Given the description of an element on the screen output the (x, y) to click on. 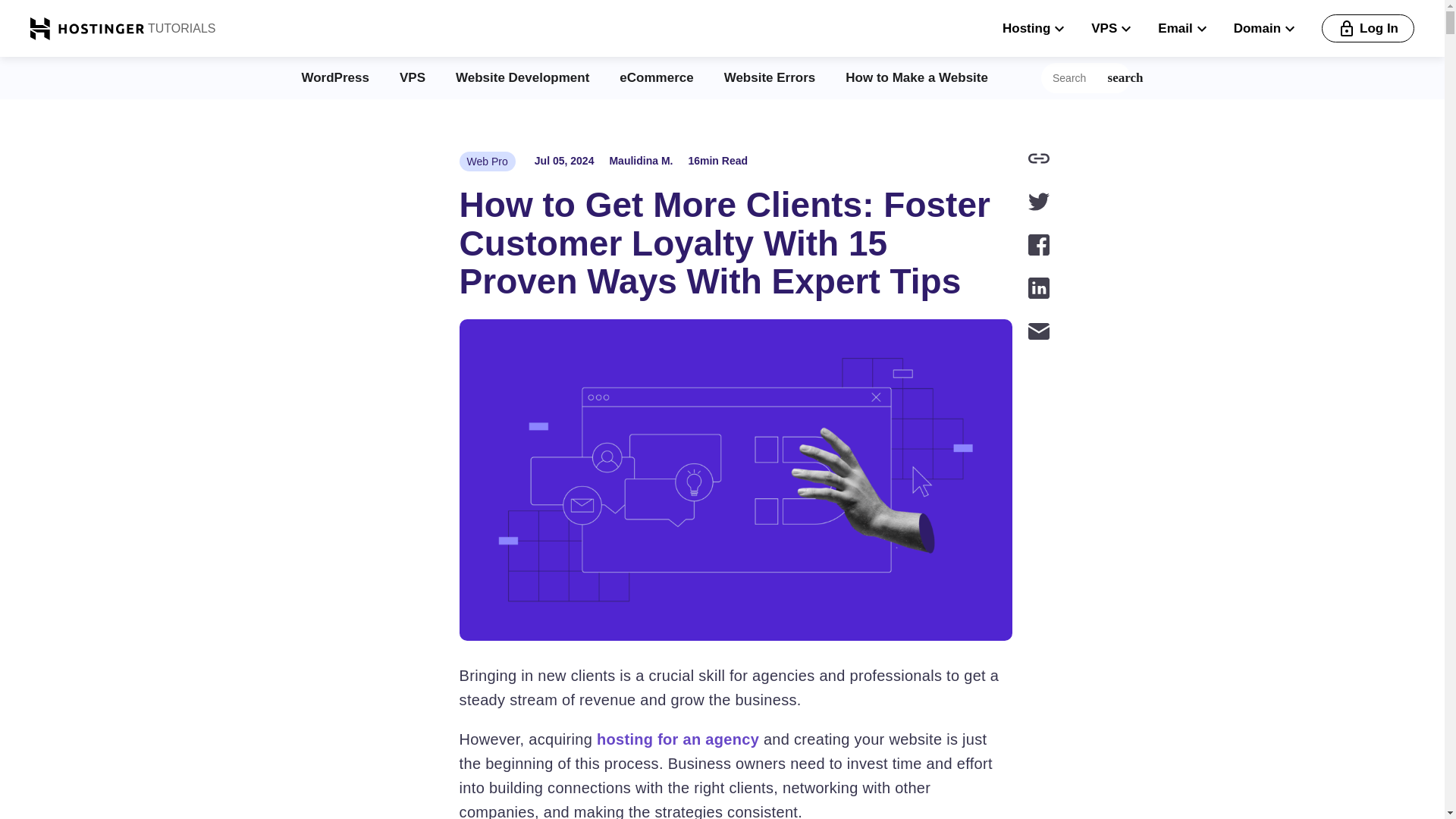
TUTORIALS (179, 28)
hosting for an agency (677, 739)
eCommerce (656, 77)
Log In (1367, 28)
VPS (411, 77)
WordPress (335, 77)
Web Pro (487, 161)
Website Errors (769, 77)
Website Development (522, 77)
How to Make a Website (916, 77)
